Given the description of an element on the screen output the (x, y) to click on. 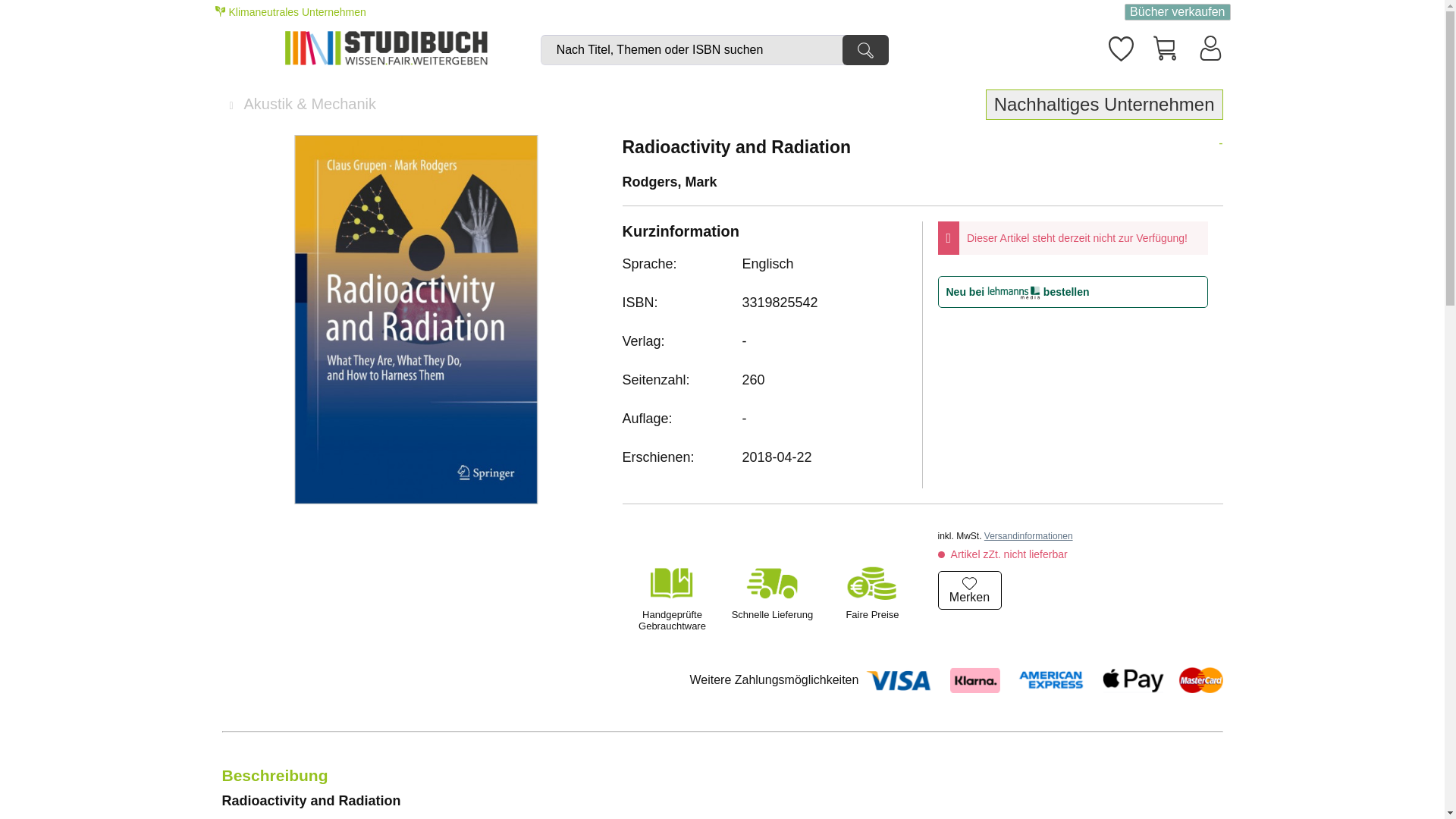
Klimaneutrales Unternehmen (293, 11)
Mein Konto (1209, 47)
Studibuch - zur Startseite wechseln (401, 48)
Merkzettel (1119, 46)
Mein Konto (1209, 47)
